Given the description of an element on the screen output the (x, y) to click on. 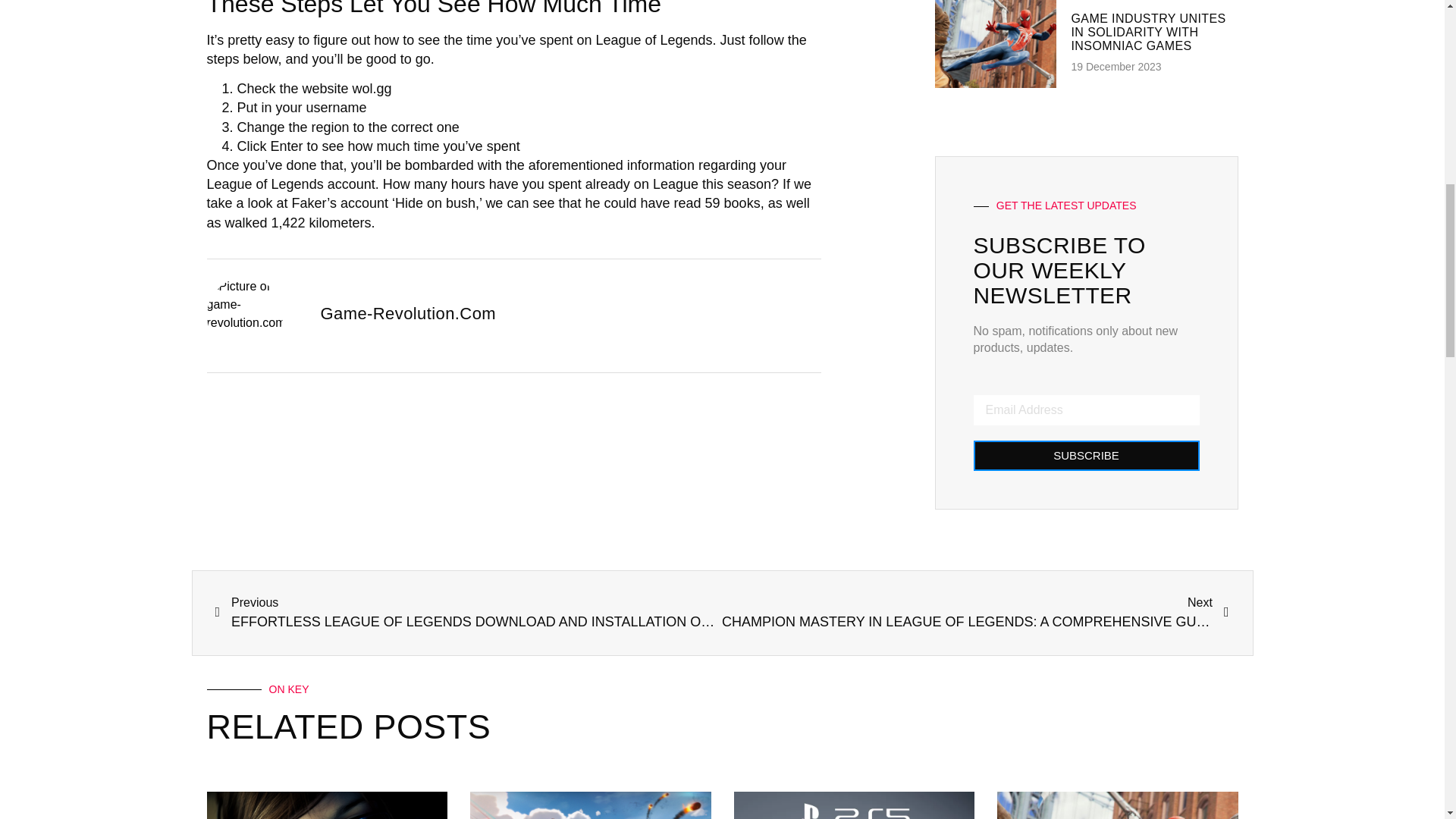
GAME INDUSTRY UNITES IN SOLIDARITY WITH INSOMNIAC GAMES (1147, 31)
SUBSCRIBE (1086, 455)
